Given the description of an element on the screen output the (x, y) to click on. 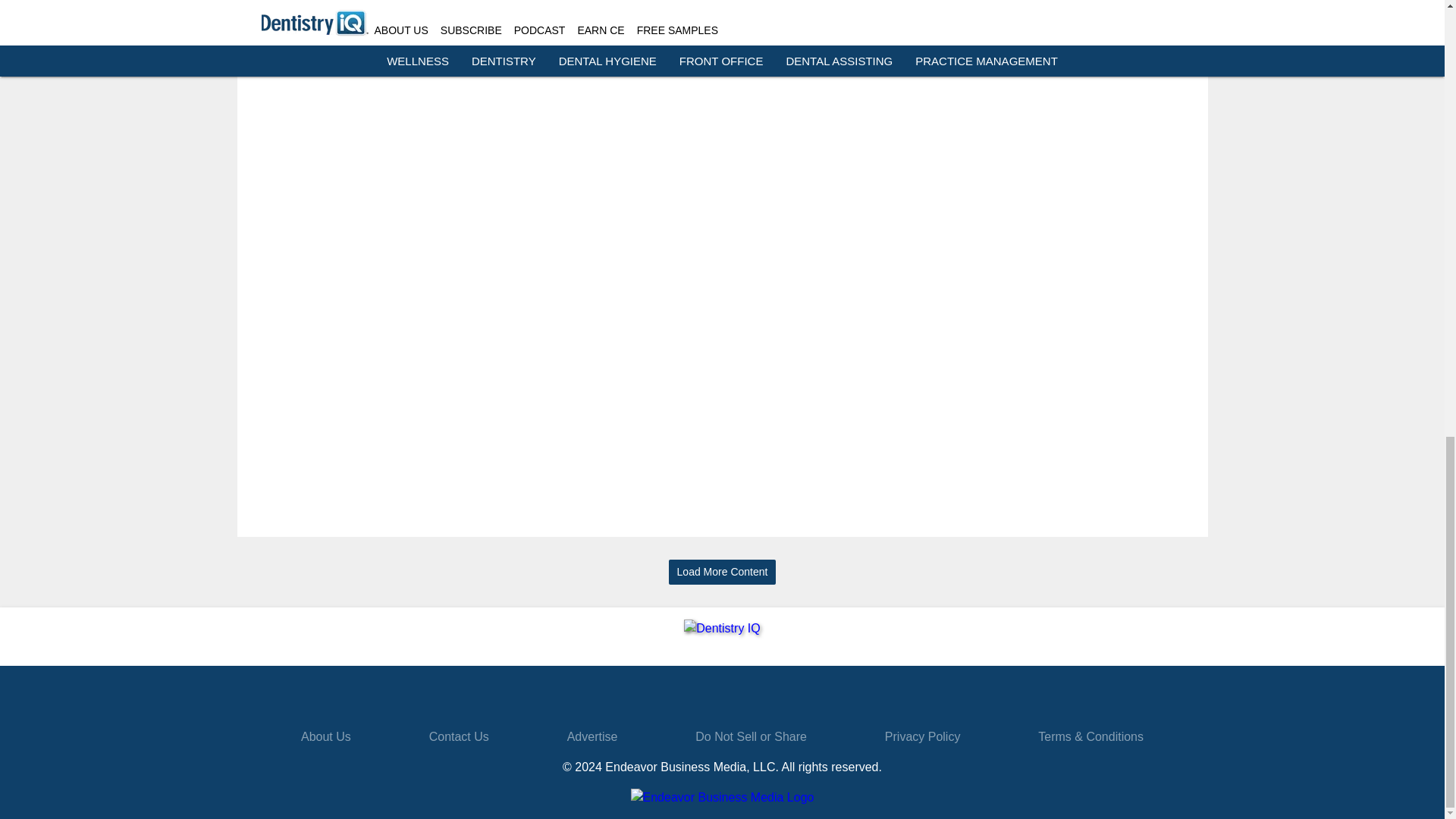
DDH Compact enactment: What you need to know now (1137, 11)
